Given the description of an element on the screen output the (x, y) to click on. 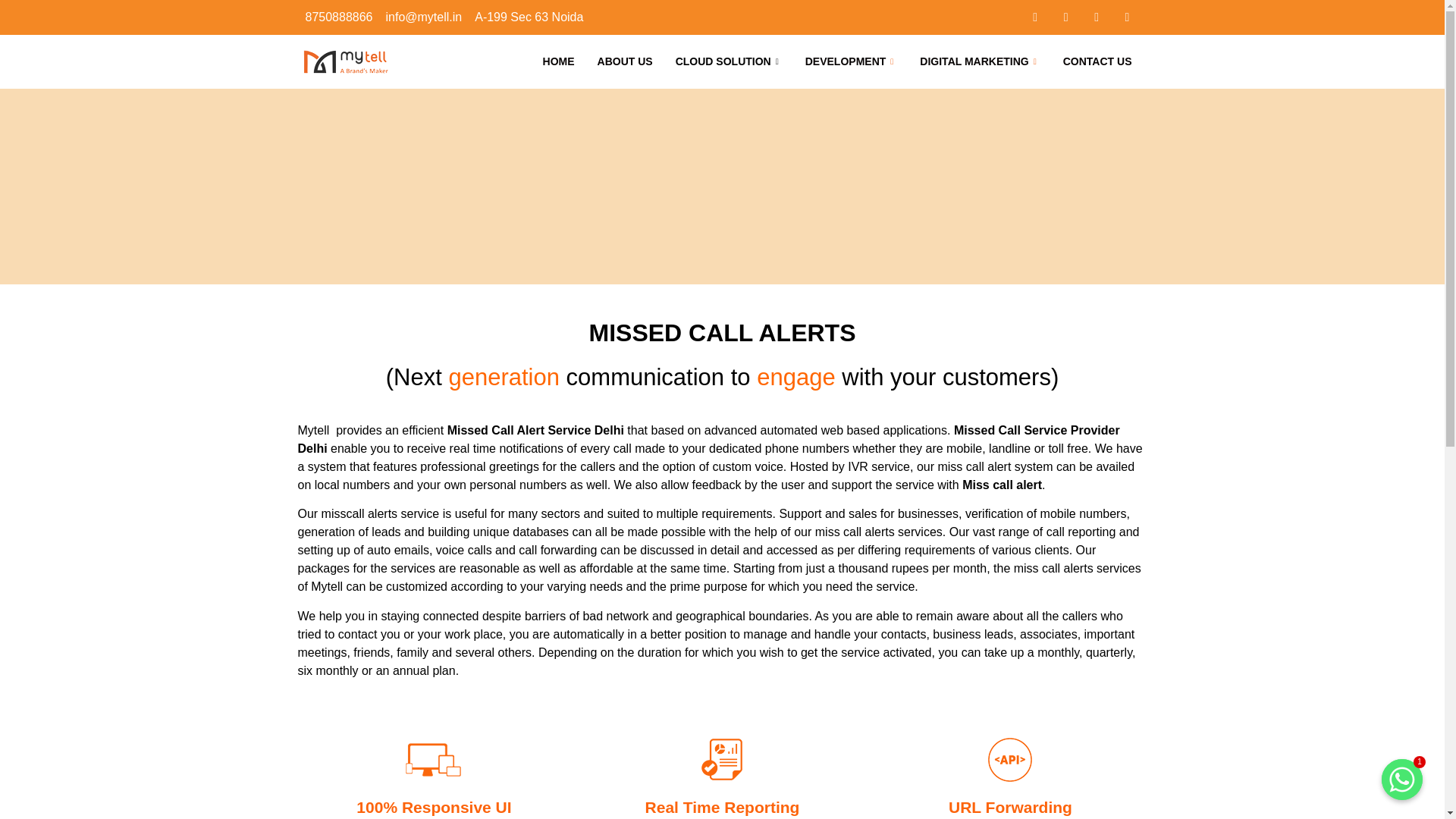
8750888866 (336, 17)
CLOUD SOLUTION (728, 61)
1 (1401, 779)
CONTACT US (1096, 61)
DEVELOPMENT (850, 61)
ABOUT US (624, 61)
HOME (558, 61)
DIGITAL MARKETING (979, 61)
